Given the description of an element on the screen output the (x, y) to click on. 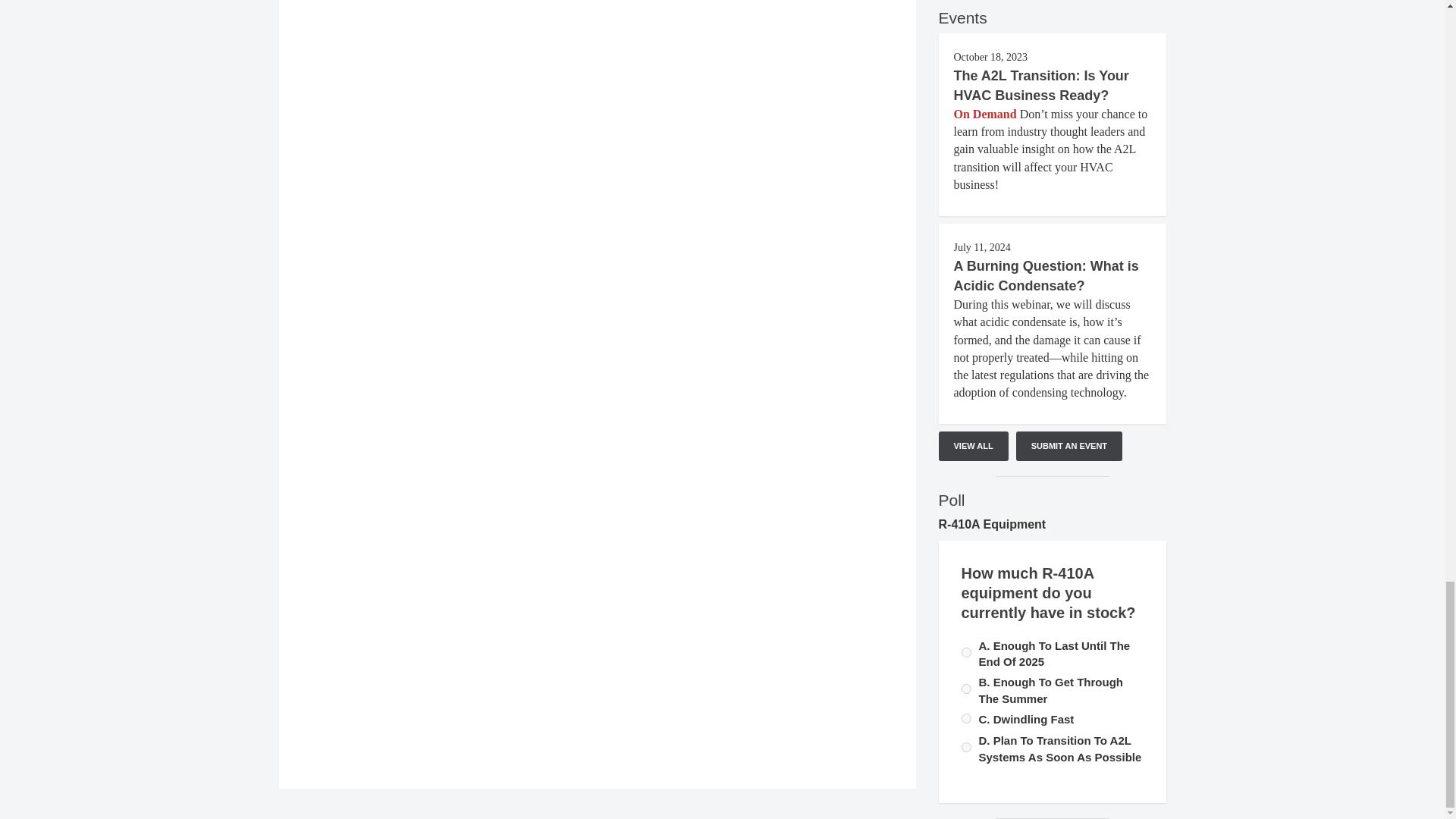
599 (965, 747)
596 (965, 688)
597 (965, 652)
598 (965, 718)
A Burning Question: What is Acidic Condensate? (1045, 275)
The A2L Transition: Is Your HVAC Business Ready? (1041, 85)
